Given the description of an element on the screen output the (x, y) to click on. 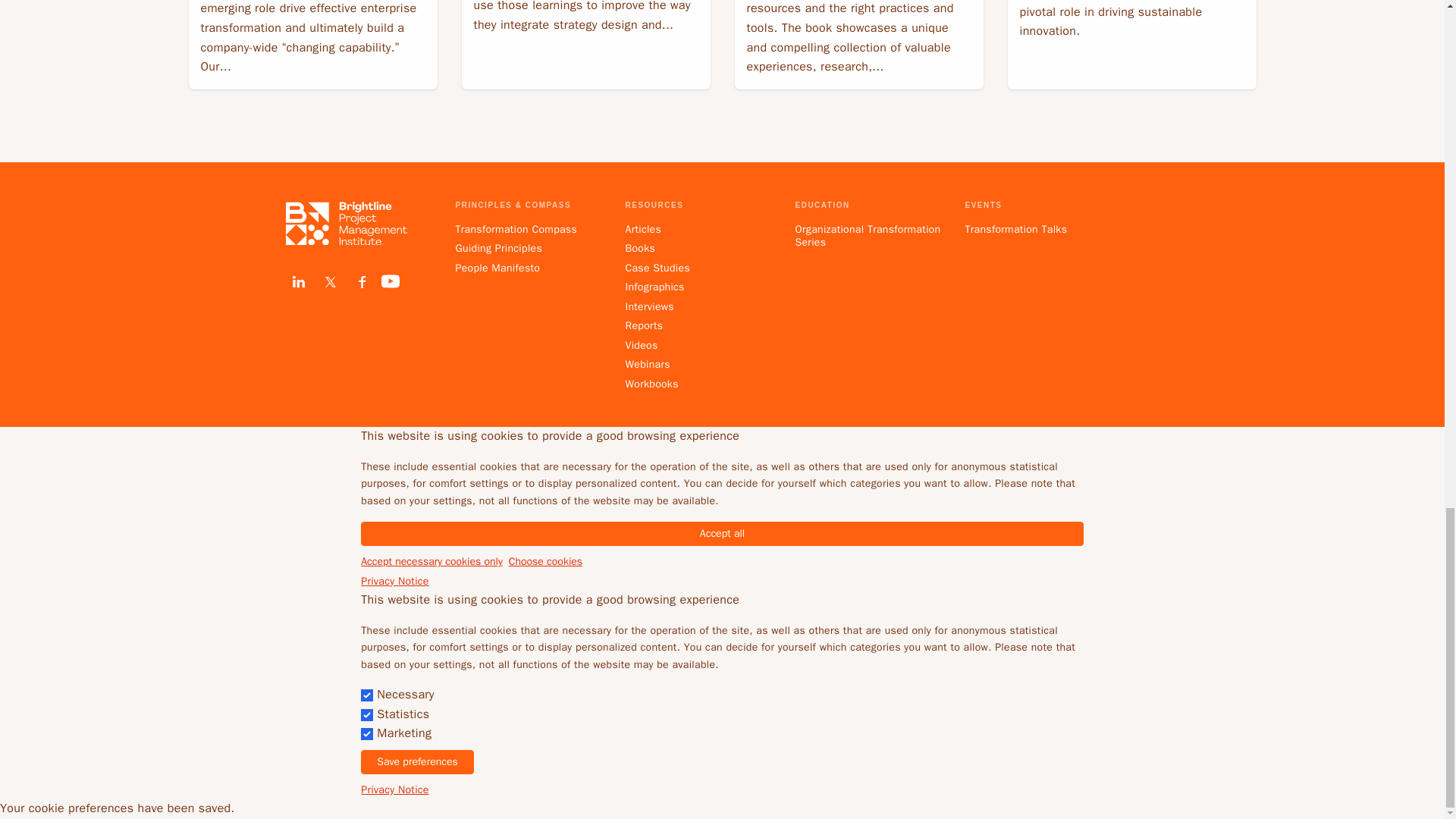
Back to home (345, 222)
Follow us on LinkedIn (298, 281)
Privacy Notice (394, 789)
Privacy Notice (394, 581)
1 (366, 695)
1 (366, 734)
Follow us on X (329, 281)
1 (366, 715)
Share on Facebook (361, 281)
